Given the description of an element on the screen output the (x, y) to click on. 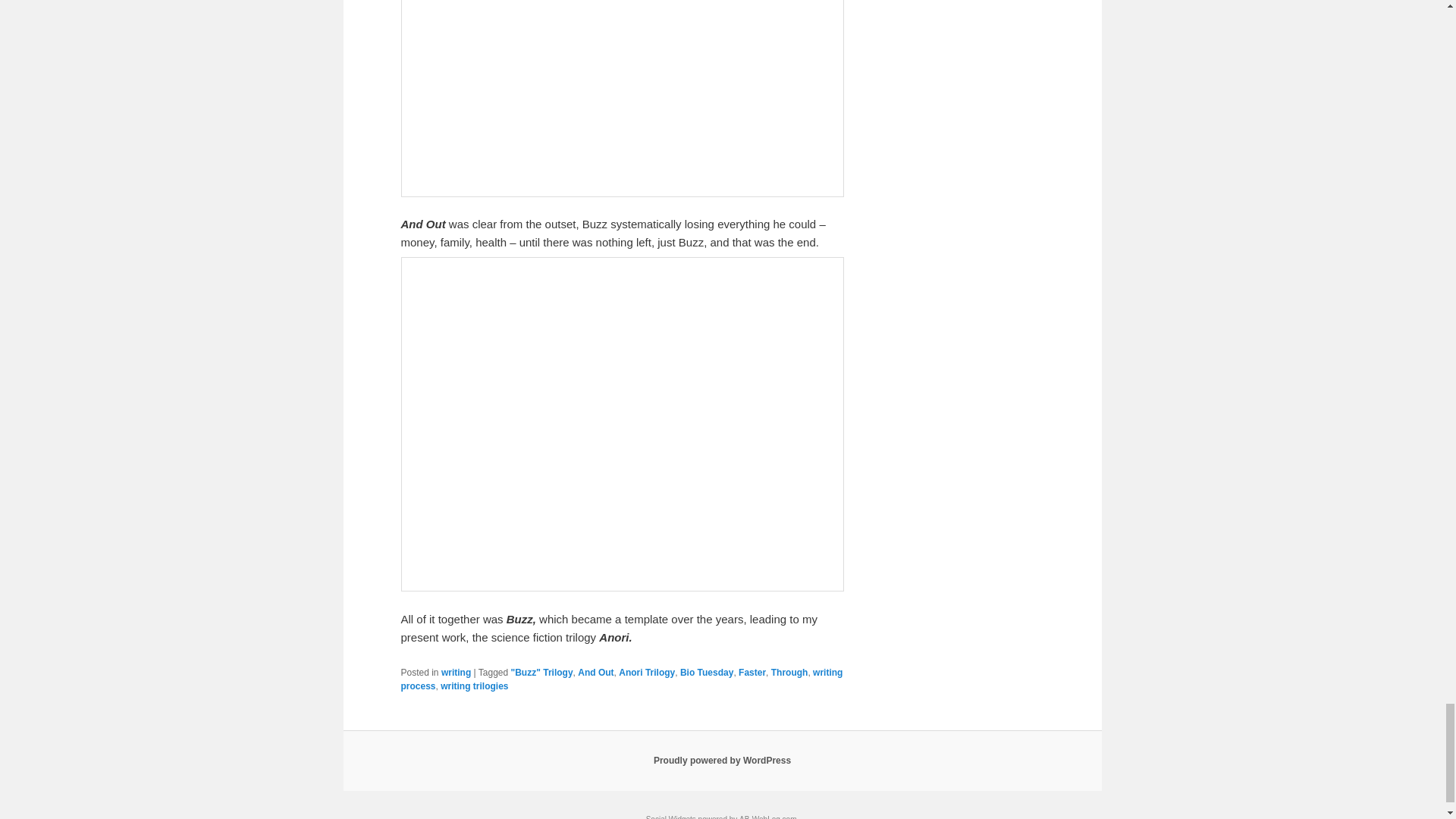
Semantic Personal Publishing Platform (721, 760)
